Given the description of an element on the screen output the (x, y) to click on. 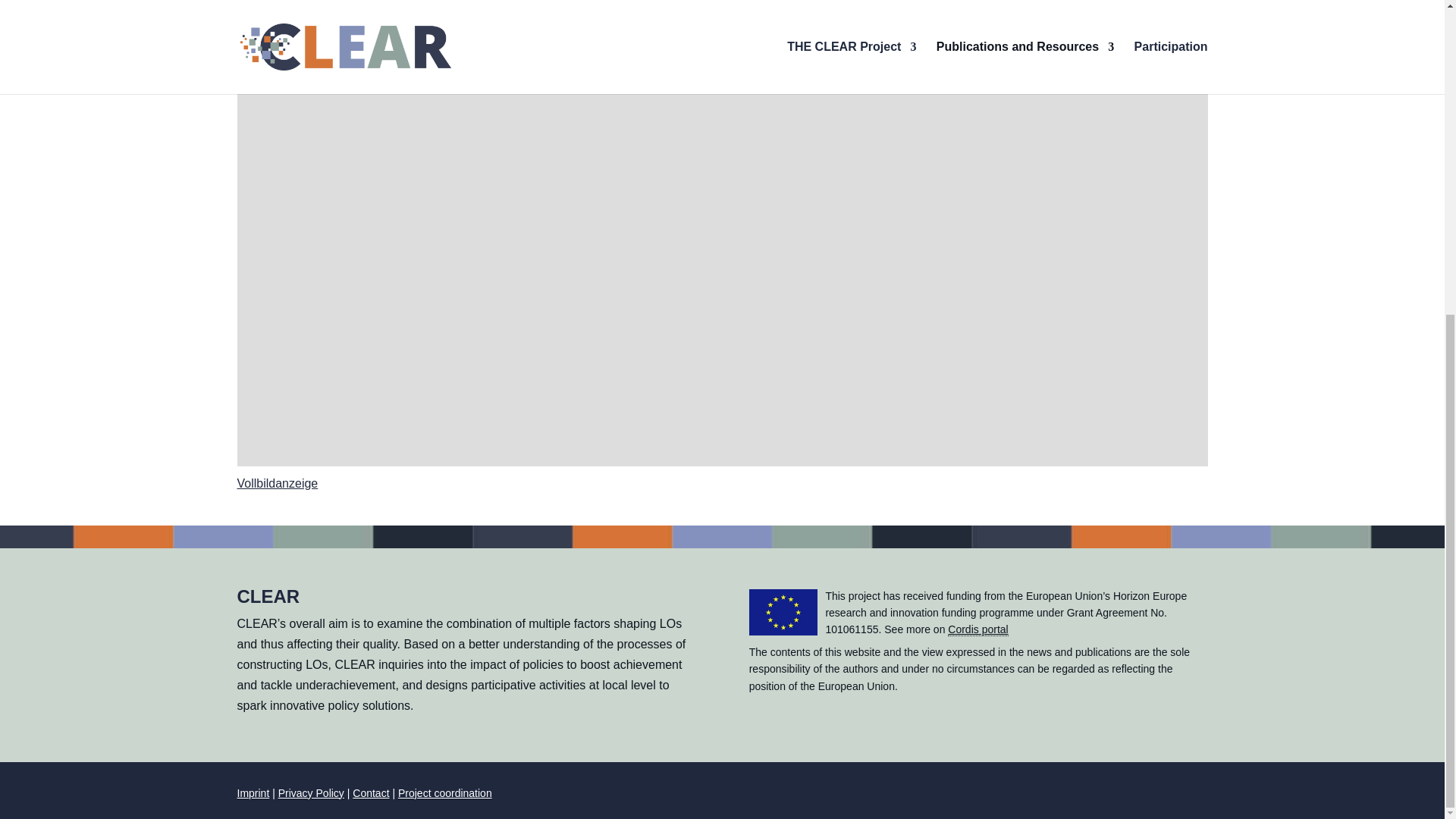
Imprint (252, 793)
Vollbildanzeige (276, 482)
Privacy Policy (310, 793)
Cordis portal (977, 629)
Project coordination (444, 793)
Contact (370, 793)
